Given the description of an element on the screen output the (x, y) to click on. 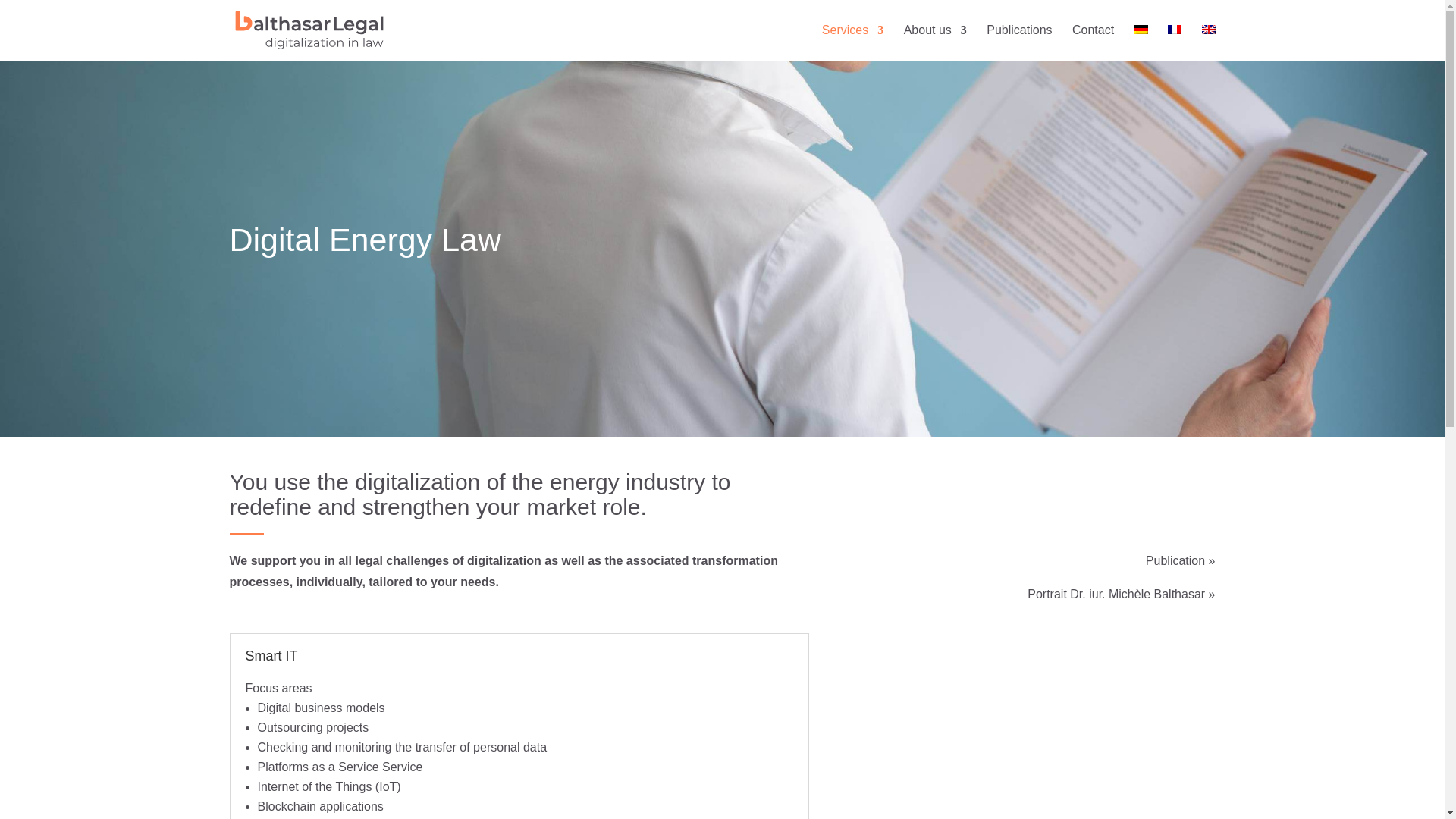
Publications (1019, 42)
Services (852, 42)
Contact (1092, 42)
About us (935, 42)
